Given the description of an element on the screen output the (x, y) to click on. 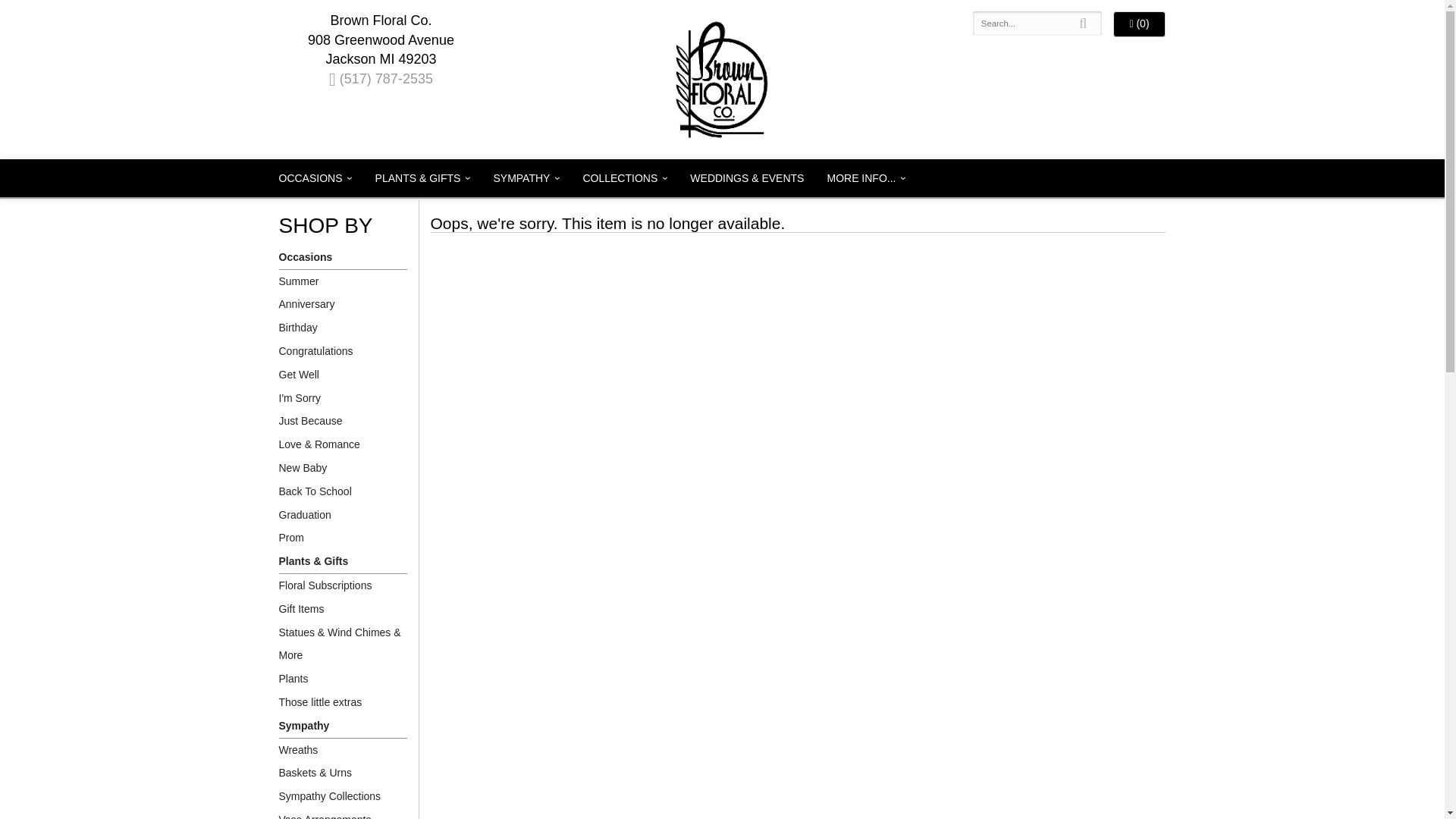
COLLECTIONS (624, 177)
SYMPATHY (525, 177)
OCCASIONS (314, 177)
